Given the description of an element on the screen output the (x, y) to click on. 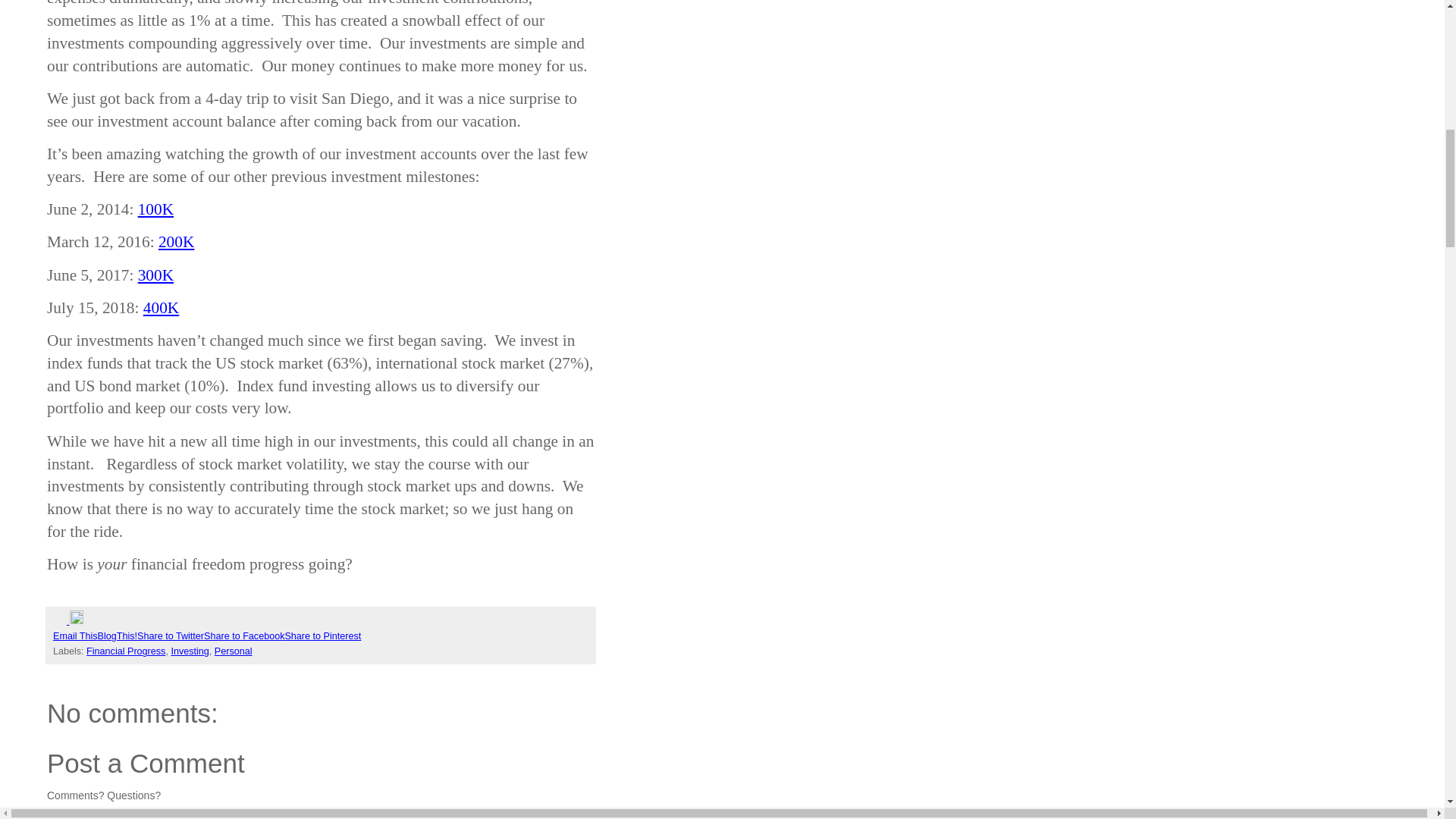
Personal (232, 651)
Edit Post (75, 620)
Share to Pinterest (322, 635)
Share to Twitter (169, 635)
Share to Facebook (243, 635)
Email Post (60, 620)
Share to Pinterest (322, 635)
200K (175, 241)
400K (160, 307)
300K (155, 275)
BlogThis! (117, 635)
Financial Progress (125, 651)
Email This (74, 635)
Share to Twitter (169, 635)
Email This (74, 635)
